Given the description of an element on the screen output the (x, y) to click on. 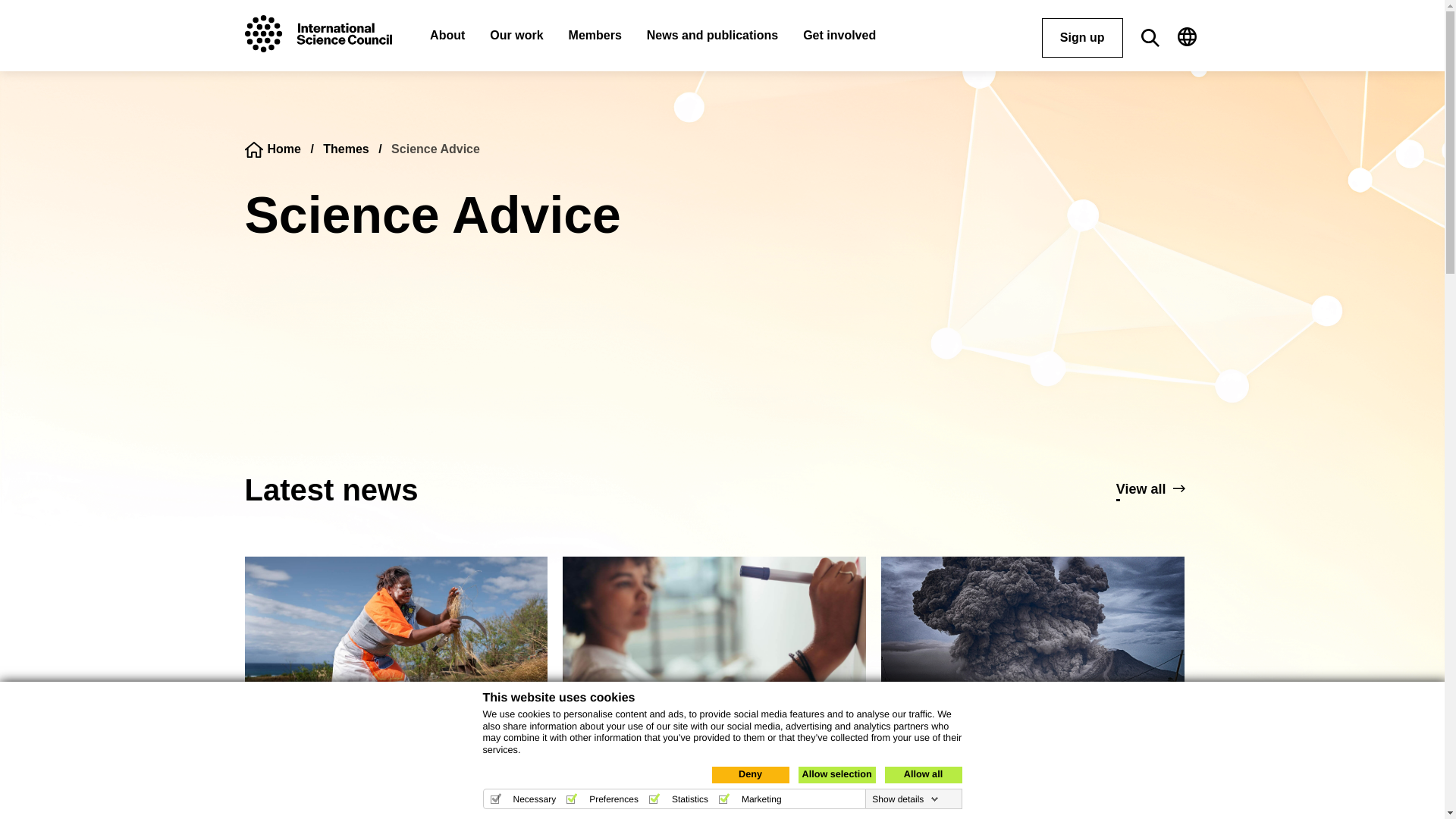
Deny (750, 774)
Show details (905, 799)
Accessibility Tools (1424, 756)
Allow all (1424, 756)
Allow selection (921, 774)
Accessibility Tools (836, 774)
